Given the description of an element on the screen output the (x, y) to click on. 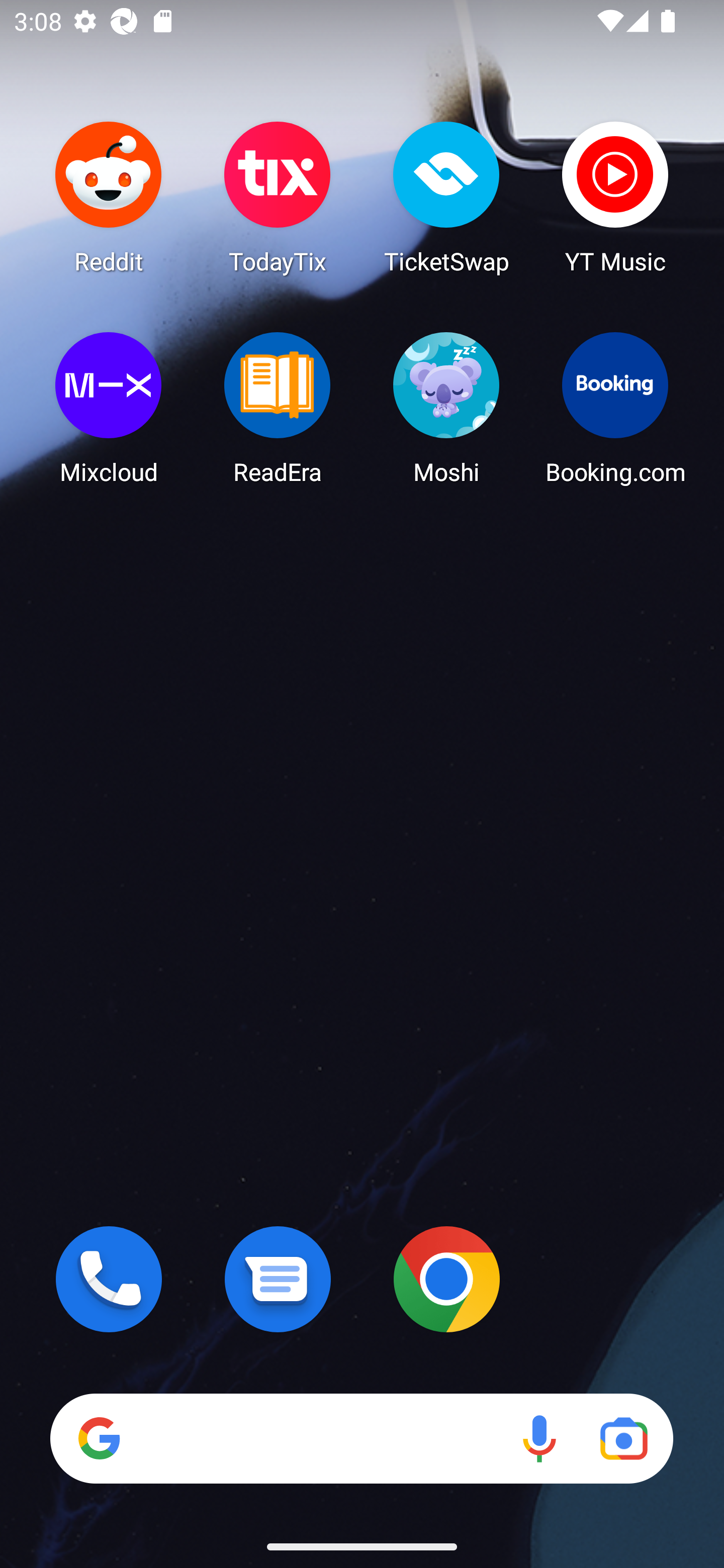
Reddit (108, 196)
TodayTix (277, 196)
TicketSwap (445, 196)
YT Music (615, 196)
Mixcloud (108, 407)
ReadEra (277, 407)
Moshi (445, 407)
Booking.com (615, 407)
Phone (108, 1279)
Messages (277, 1279)
Chrome (446, 1279)
Search Voice search Google Lens (361, 1438)
Voice search (539, 1438)
Google Lens (623, 1438)
